Given the description of an element on the screen output the (x, y) to click on. 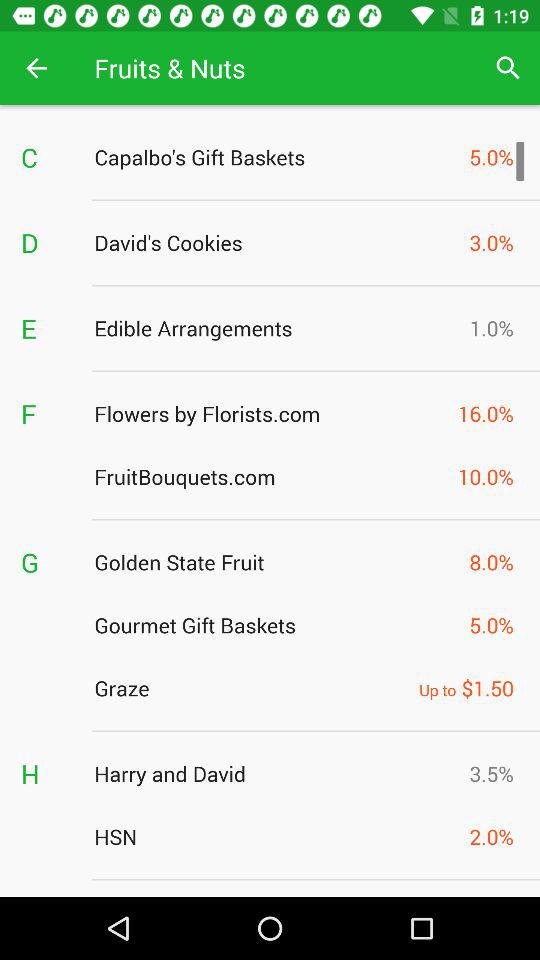
turn off the icon to the left of the 16.0% icon (270, 413)
